Given the description of an element on the screen output the (x, y) to click on. 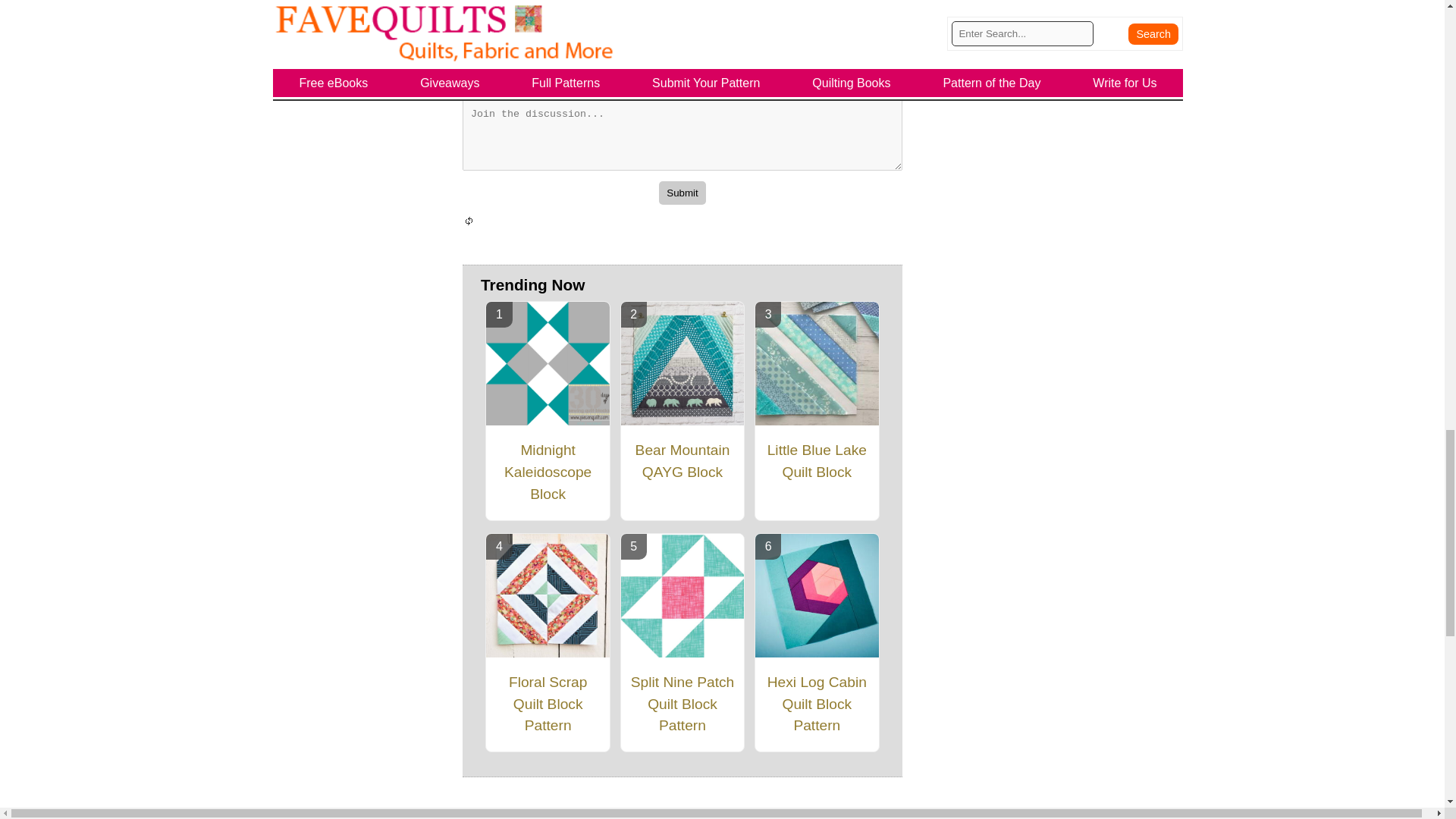
1 (470, 76)
Submit (681, 192)
